Given the description of an element on the screen output the (x, y) to click on. 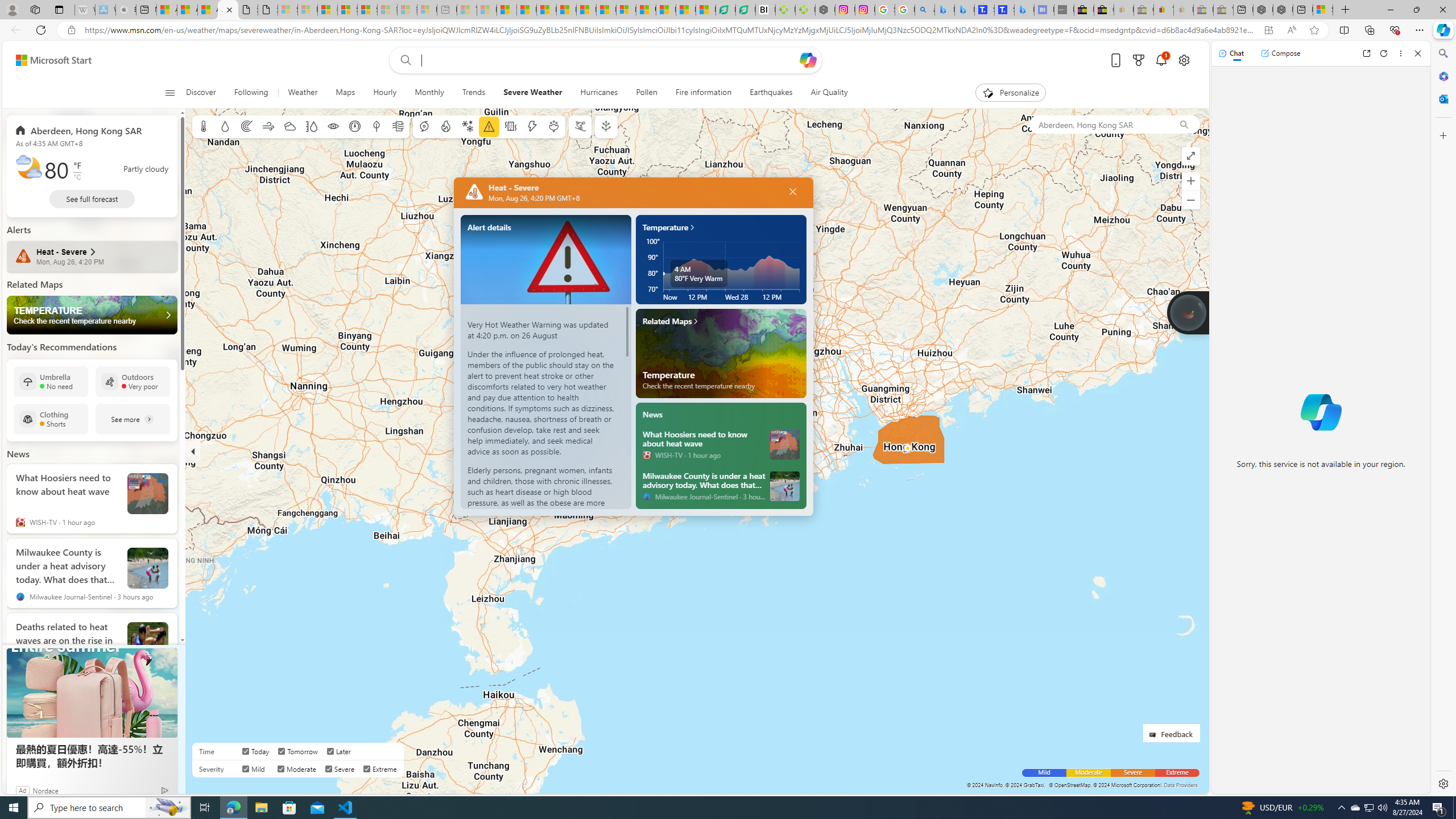
Clouds (289, 126)
Air Quality (828, 92)
See full forecast (92, 199)
Earthquakes (771, 92)
Severe Weather (532, 92)
Wind (267, 126)
